Given the description of an element on the screen output the (x, y) to click on. 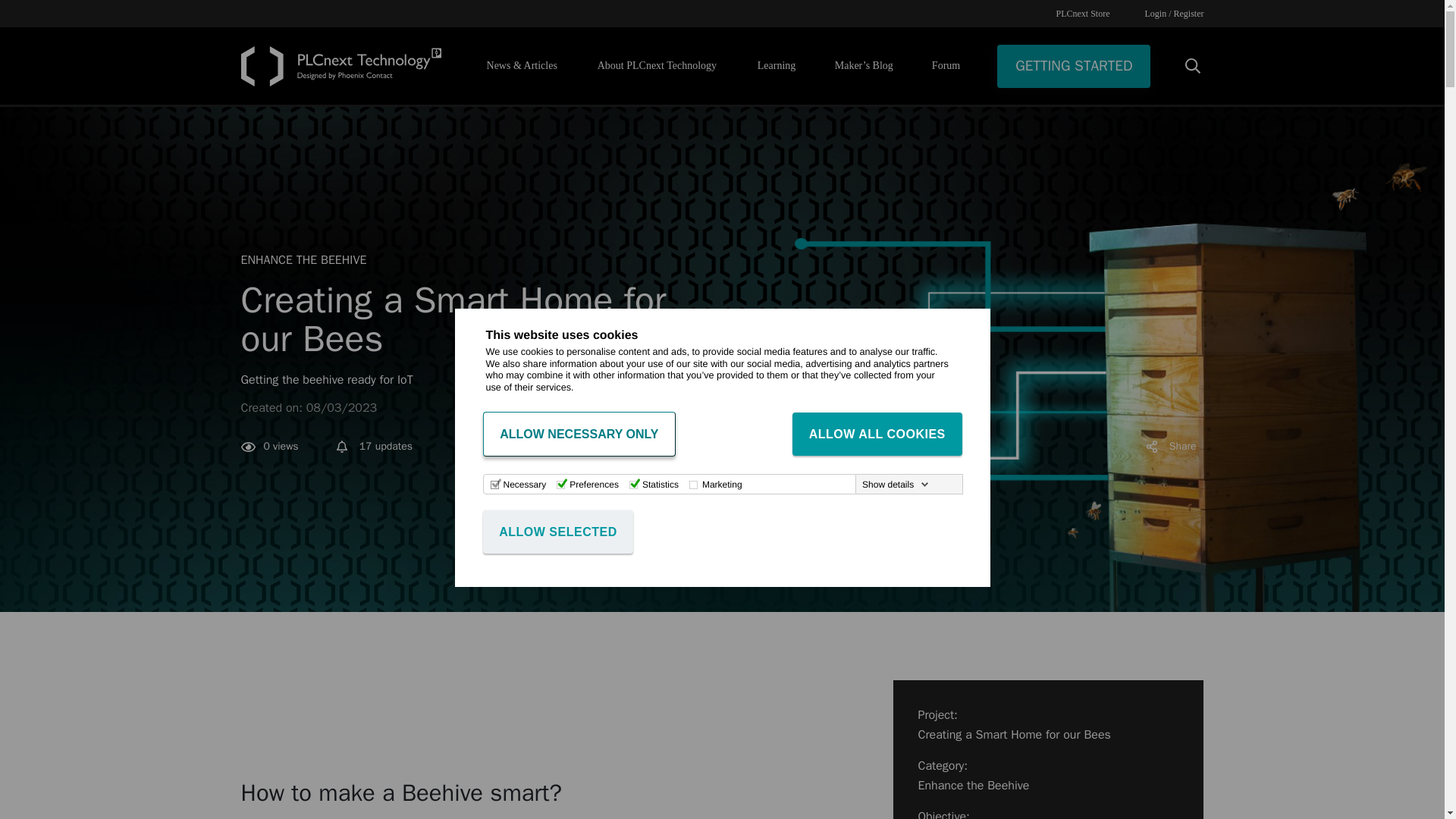
Show details (895, 484)
ALLOW SELECTED (557, 531)
GETTING STARTED (1073, 65)
PLCnext Store (1082, 13)
ALLOW NECESSARY ONLY (578, 433)
ALLOW ALL COOKIES (877, 433)
